Given the description of an element on the screen output the (x, y) to click on. 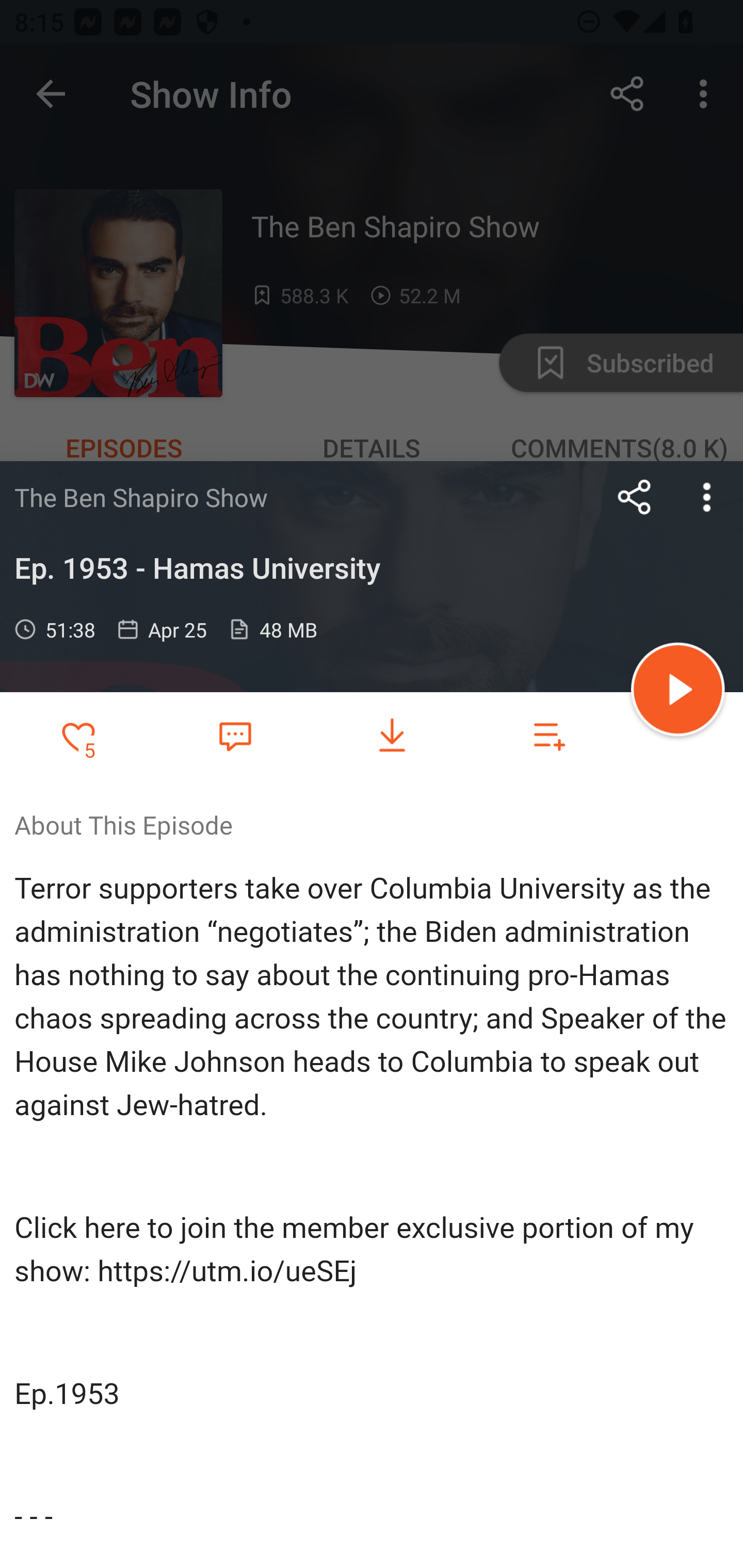
Share (634, 496)
more options (706, 496)
Play (677, 692)
Favorite (234, 735)
Add to Favorites (78, 735)
Download (391, 735)
Add to playlist (548, 735)
